Given the description of an element on the screen output the (x, y) to click on. 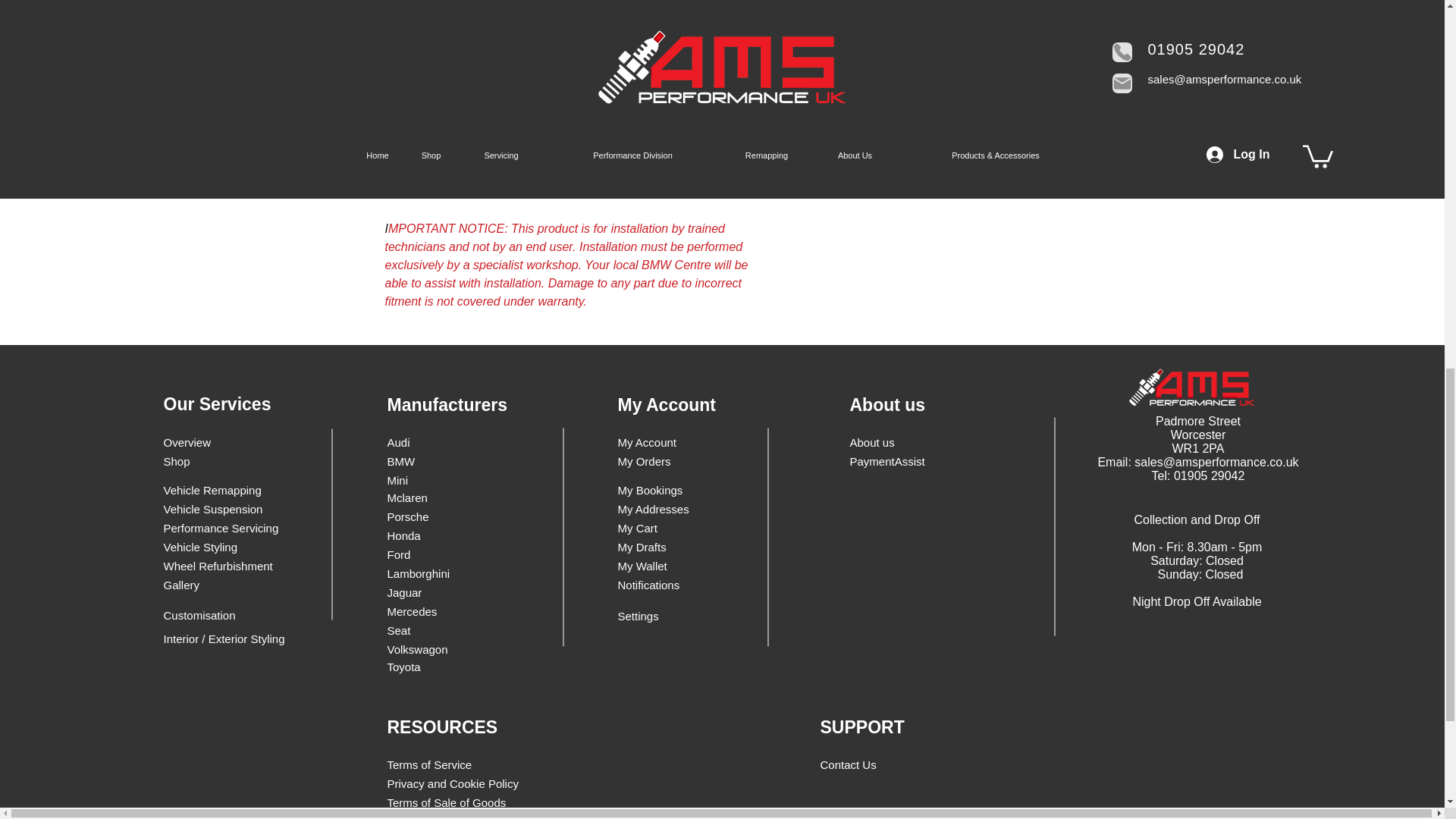
Gallery (218, 584)
Mclaren (425, 497)
Wheel Refurbishment (218, 565)
Vehicle Styling (218, 546)
Vehicle Suspension (218, 508)
My Addresses (655, 508)
Performance Servicing (222, 527)
Mini (430, 479)
Porsche (425, 516)
Audi (430, 442)
